Given the description of an element on the screen output the (x, y) to click on. 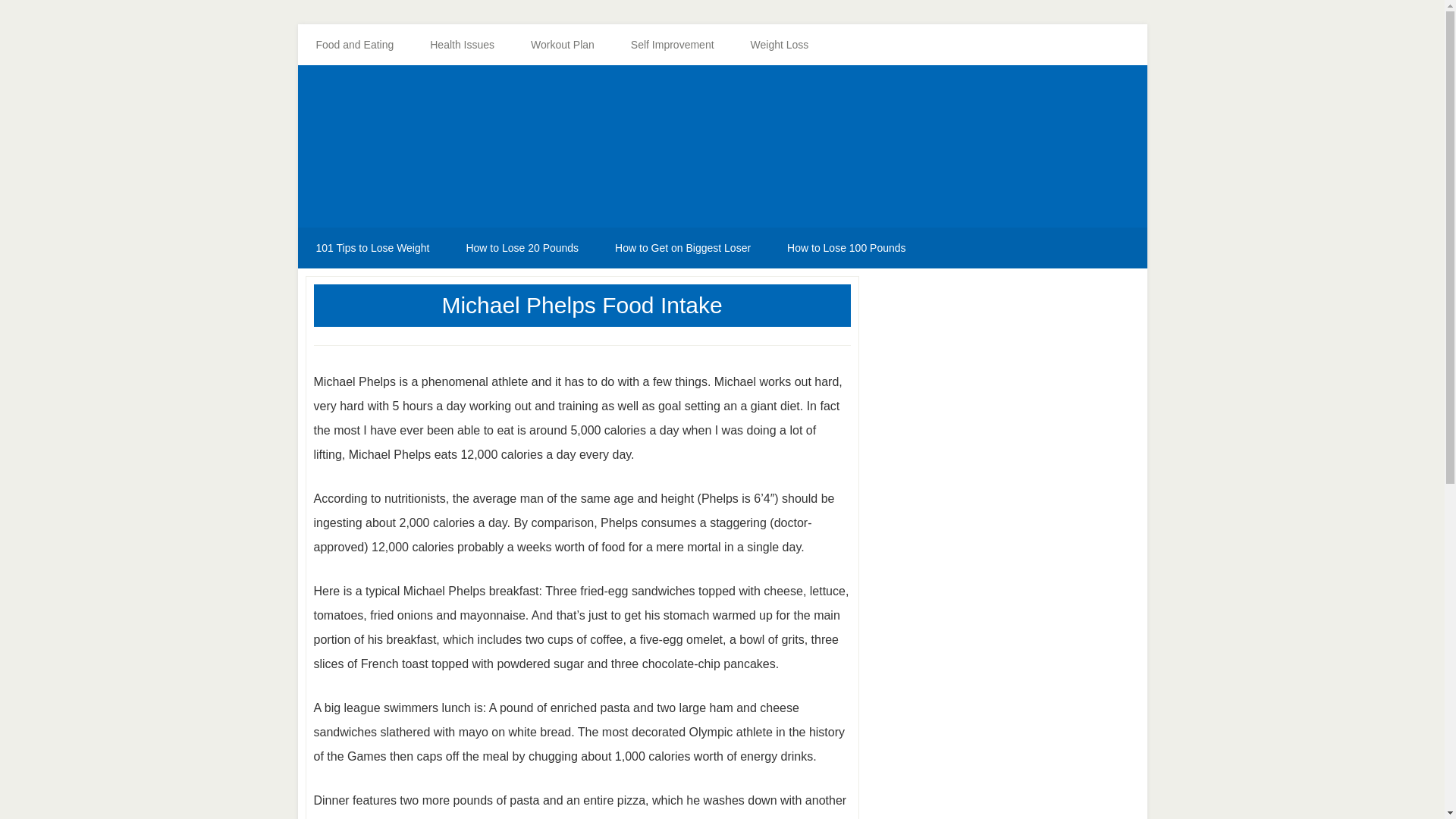
How to Lose 20 Pounds (521, 247)
Food and Eating (354, 44)
Self Improvement (672, 44)
How to Get on Biggest Loser (682, 247)
Weight Loss (779, 44)
Health Issues (462, 44)
101 Tips to Lose Weight (371, 247)
Workout Plan (562, 44)
Fitness Tips for Life (721, 149)
How to Lose 100 Pounds (845, 247)
